Given the description of an element on the screen output the (x, y) to click on. 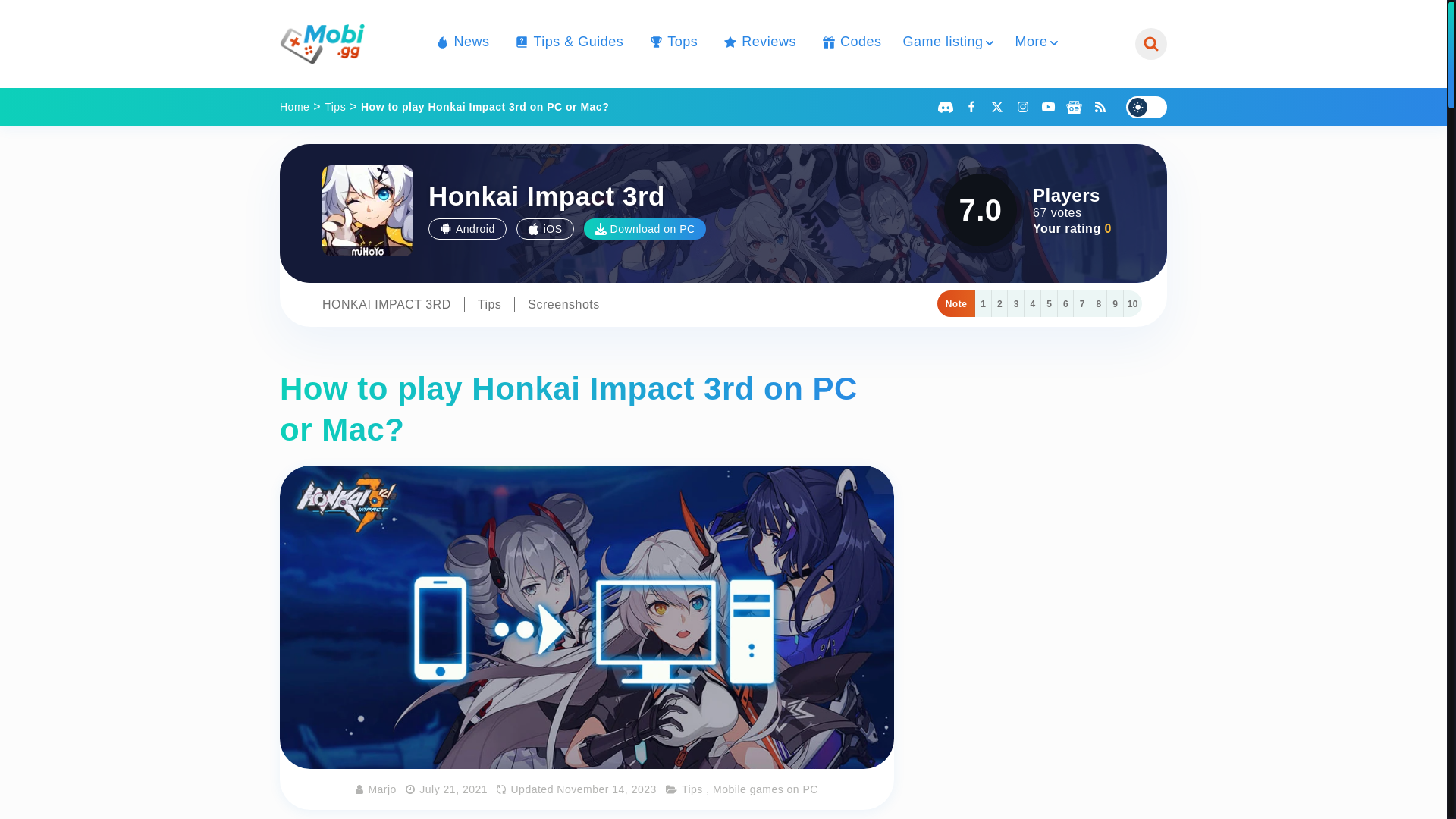
Mobi.gg (322, 43)
Tips (335, 106)
Codes (849, 42)
Home (293, 106)
Marjo (382, 788)
News (459, 42)
Tops (671, 42)
Reviews (757, 42)
